Given the description of an element on the screen output the (x, y) to click on. 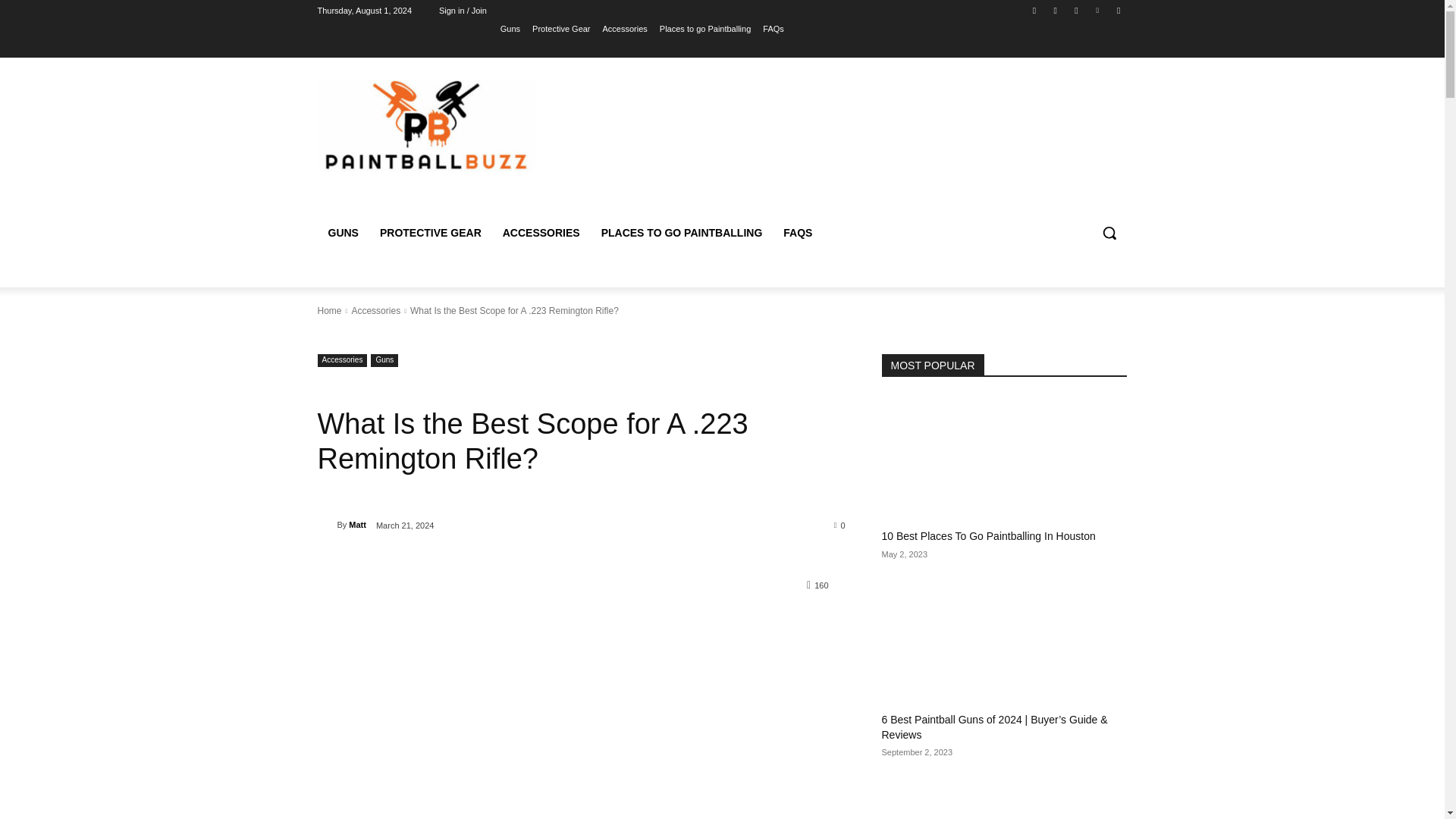
FAQs (773, 28)
ACCESSORIES (541, 232)
PLACES TO GO PAINTBALLING (682, 232)
Matt (326, 524)
Twitter (1075, 9)
Home (328, 310)
Accessories (375, 310)
Guns (509, 28)
Facebook (1034, 9)
Instagram (1055, 9)
GUNS (342, 232)
Accessories (341, 359)
View all posts in Accessories (375, 310)
Accessories (624, 28)
0 (839, 524)
